Given the description of an element on the screen output the (x, y) to click on. 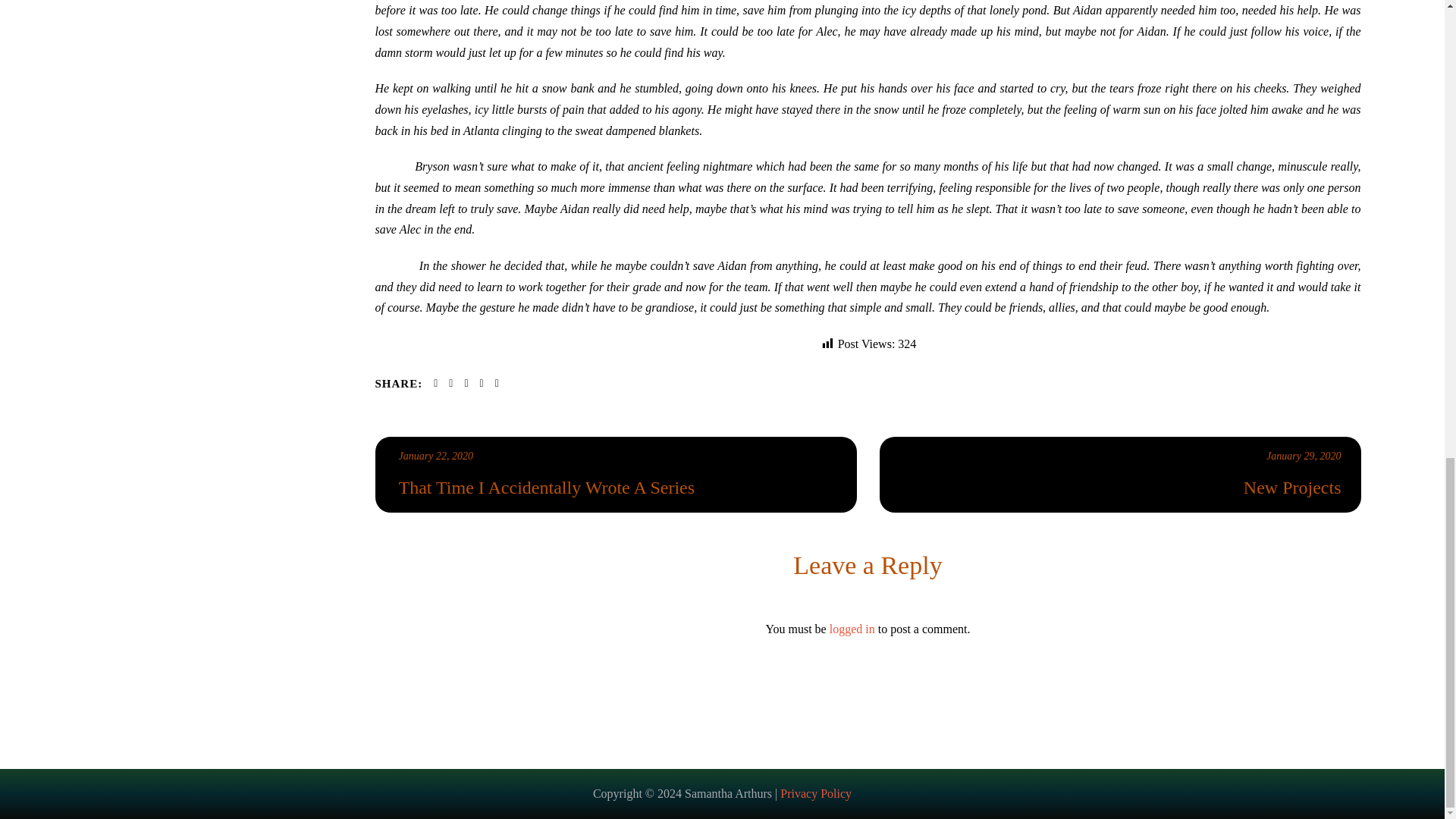
That Time I Accidentally Wrote A Series (617, 487)
That Time I Accidentally Wrote A Series (435, 455)
Privacy Policy (815, 793)
January 22, 2020 (435, 455)
logged in (852, 628)
January 29, 2020 (1303, 455)
New Projects (1121, 487)
